Given the description of an element on the screen output the (x, y) to click on. 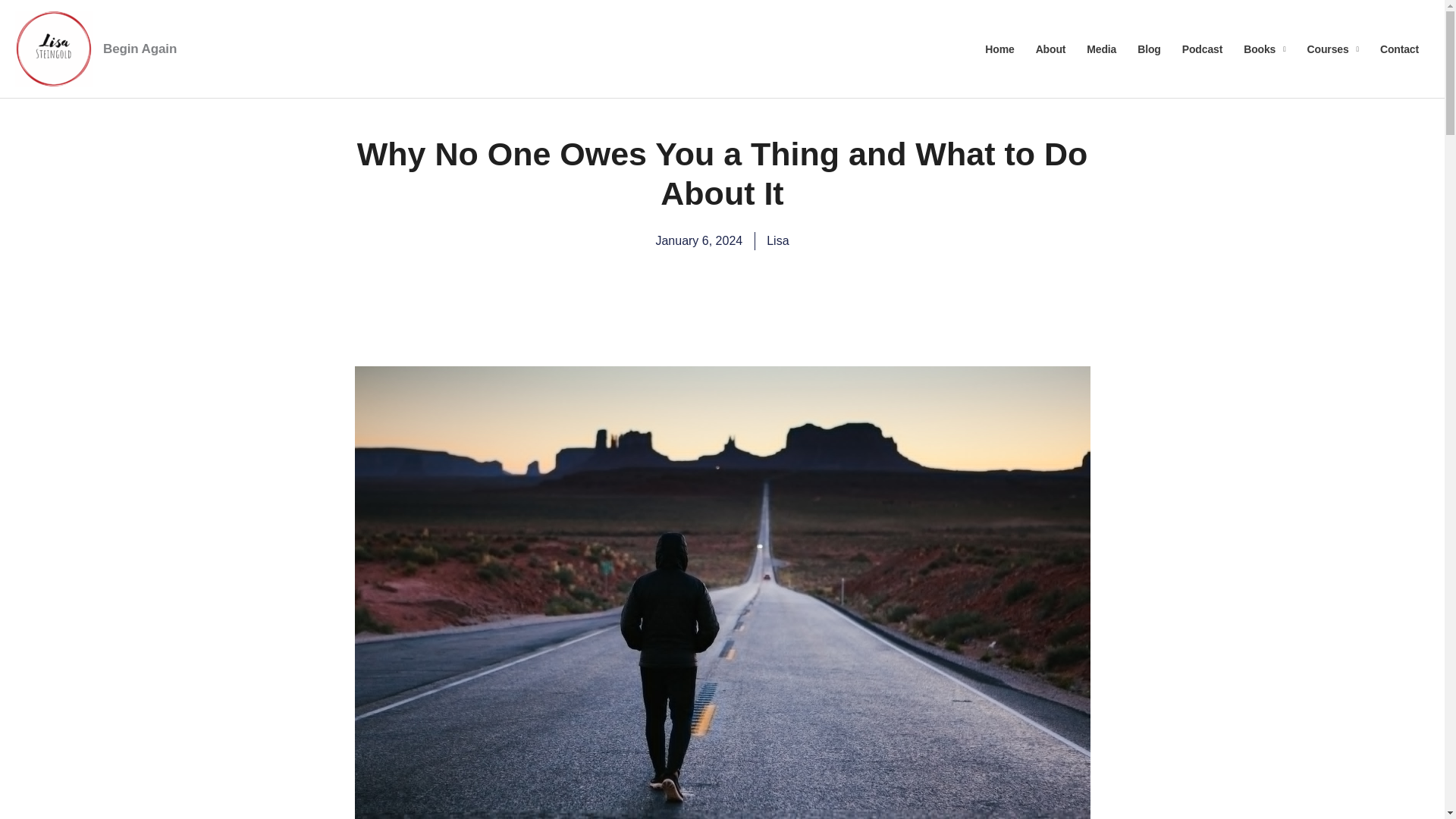
Courses (1333, 48)
About (1051, 48)
Lisa (778, 240)
January 6, 2024 (698, 240)
Books (1264, 48)
Podcast (1202, 48)
Media (1100, 48)
Contact (1399, 48)
Blog (1149, 48)
Home (999, 48)
